Given the description of an element on the screen output the (x, y) to click on. 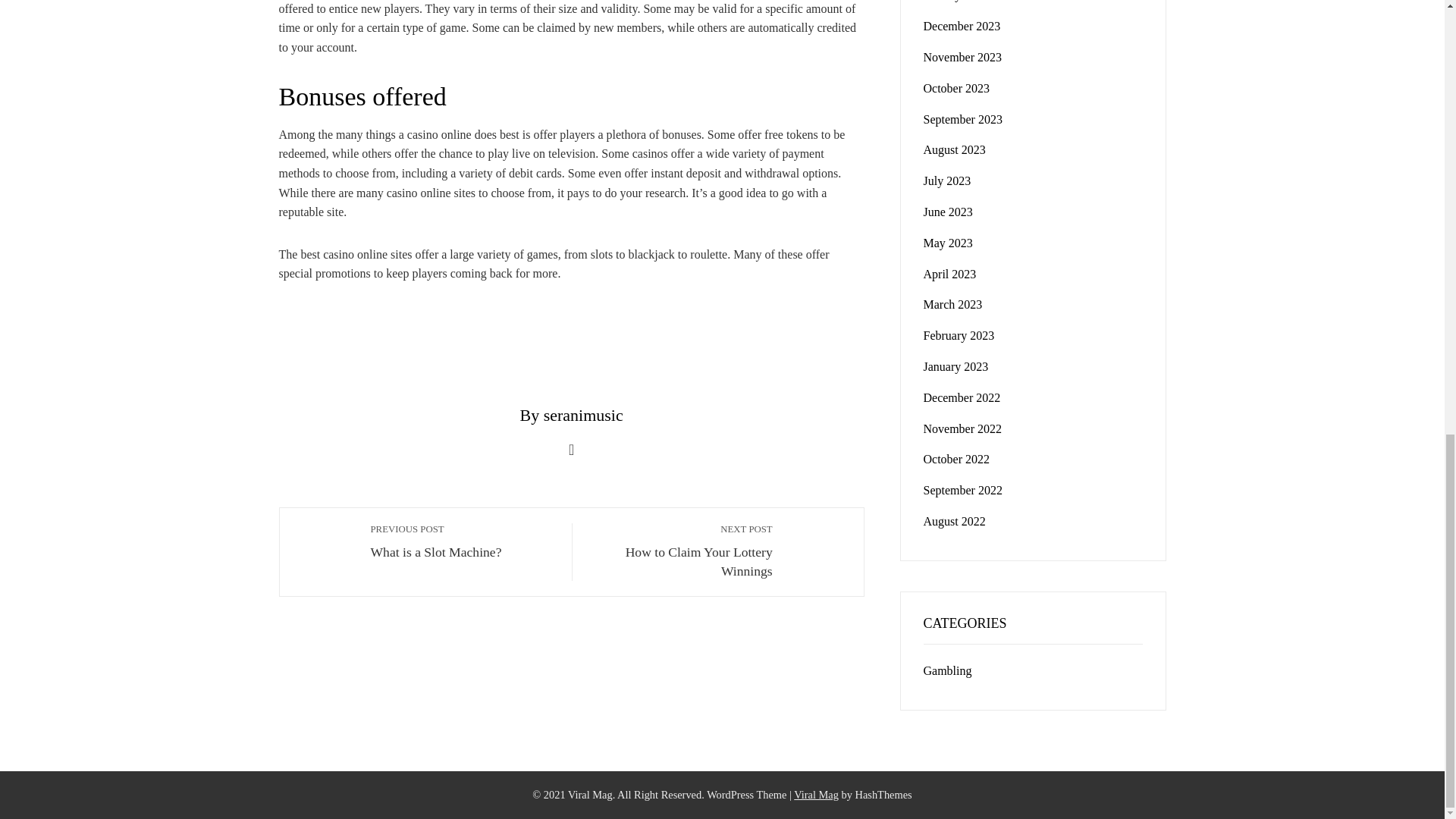
Download Viral News (815, 794)
April 2023 (949, 273)
March 2023 (952, 304)
May 2023 (462, 541)
October 2023 (947, 242)
December 2023 (956, 88)
January 2023 (962, 25)
January 2024 (955, 366)
February 2023 (955, 0)
August 2023 (680, 550)
November 2023 (958, 335)
July 2023 (954, 149)
September 2023 (963, 56)
